Given the description of an element on the screen output the (x, y) to click on. 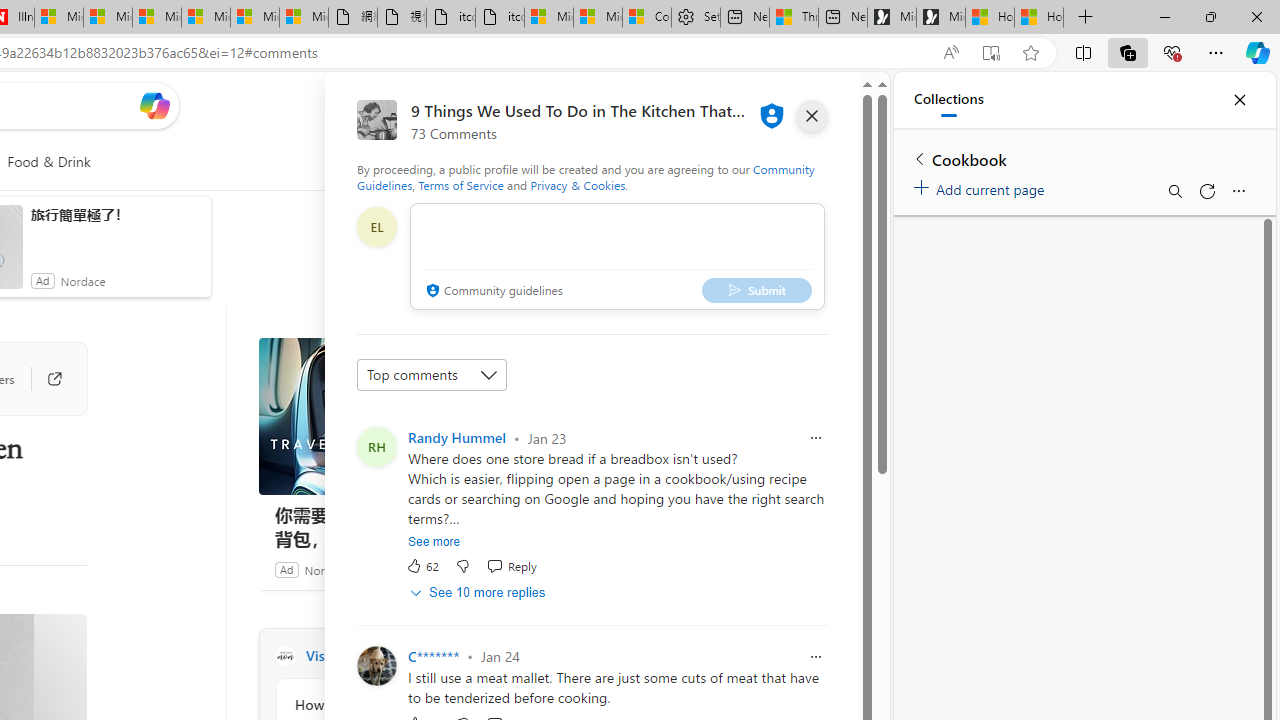
Community Guidelines (586, 176)
Consumer Health Data Privacy Policy (646, 17)
itconcepthk.com/projector_solutions.mp4 (499, 17)
Secret Life of Mom (285, 655)
Three Ways To Stop Sweating So Much (793, 17)
